Given the description of an element on the screen output the (x, y) to click on. 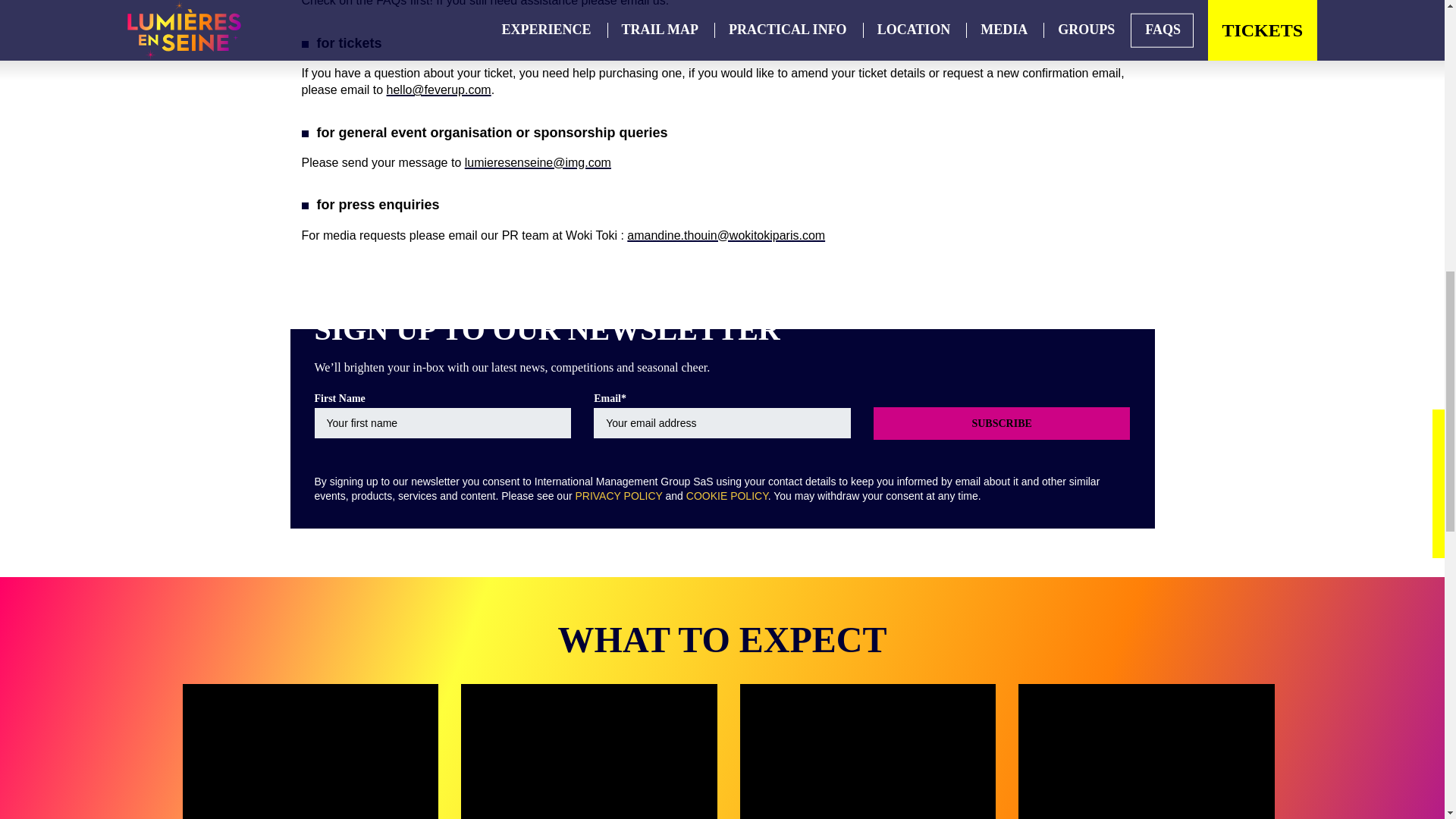
COOKIE POLICY (726, 495)
SUBSCRIBE (1002, 423)
PRIVACY POLICY (618, 495)
